Given the description of an element on the screen output the (x, y) to click on. 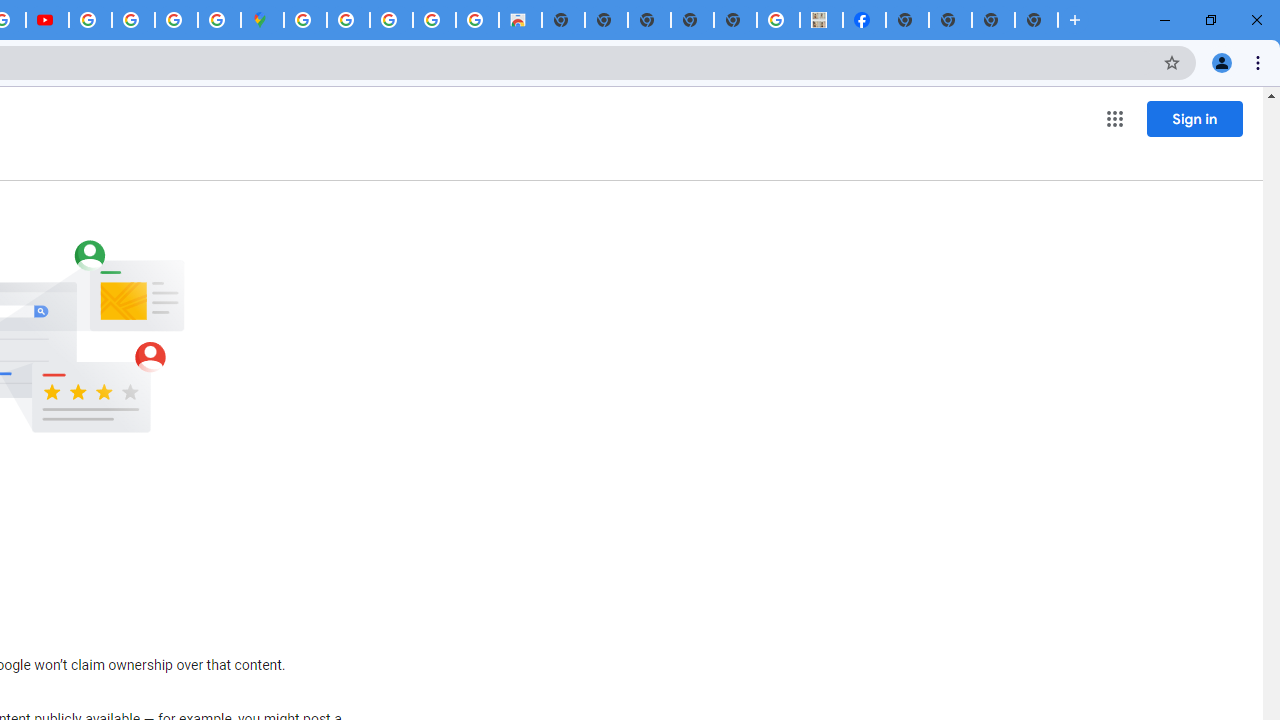
MILEY CYRUS. (821, 20)
New Tab (907, 20)
Chrome Web Store - Shopping (520, 20)
Miley Cyrus | Facebook (864, 20)
